Given the description of an element on the screen output the (x, y) to click on. 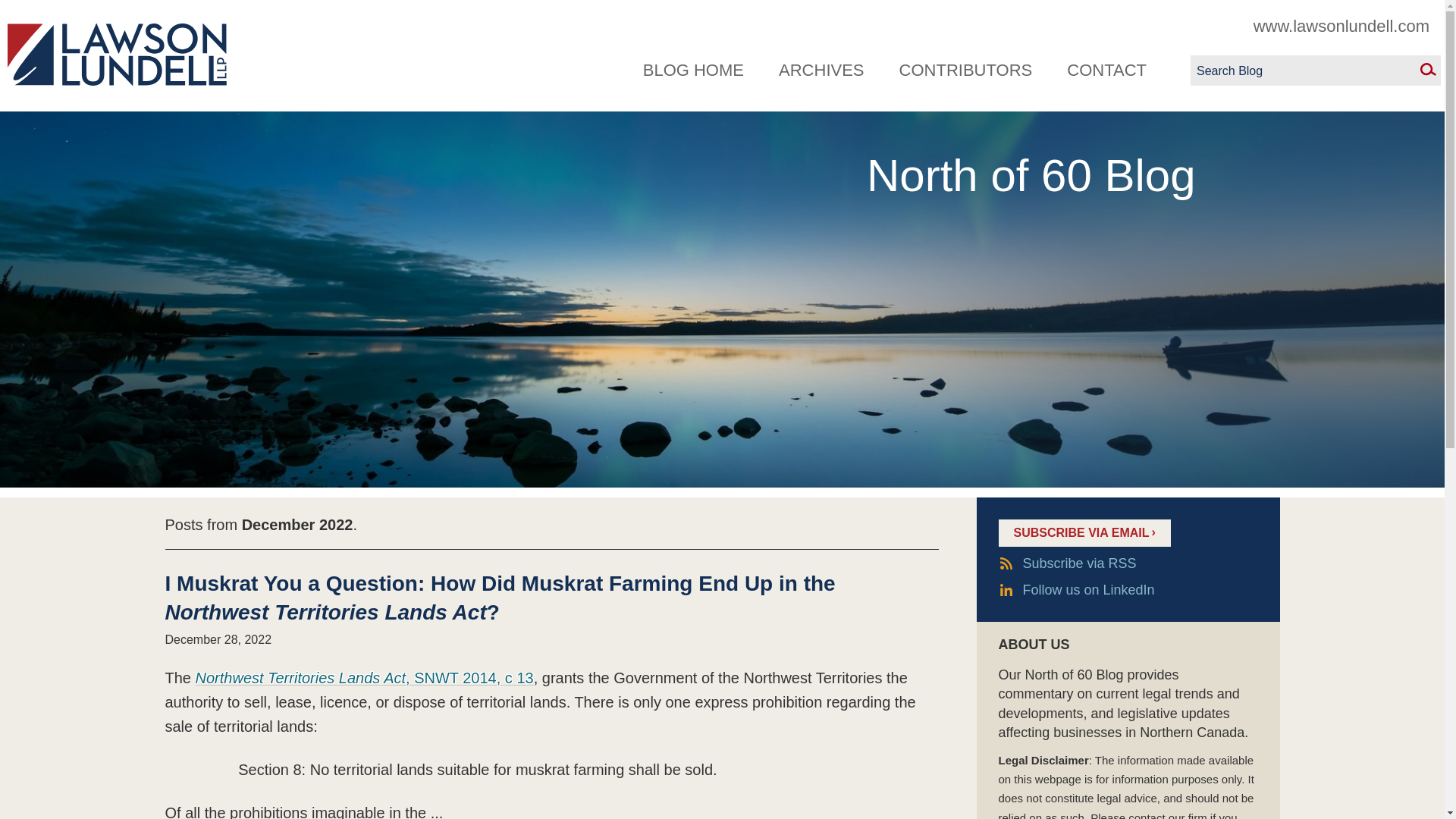
CONTACT (1106, 75)
CONTRIBUTORS (965, 75)
Menu (264, 12)
Northwest Territories Lands Act, SNWT 2014, c 13 (364, 677)
LinkedIn (1075, 589)
Subscribe via RSS (1066, 563)
Follow us on LinkedIn (1075, 589)
BLOG HOME (693, 75)
ARCHIVES (821, 75)
www.lawsonlundell.com (1341, 31)
